Given the description of an element on the screen output the (x, y) to click on. 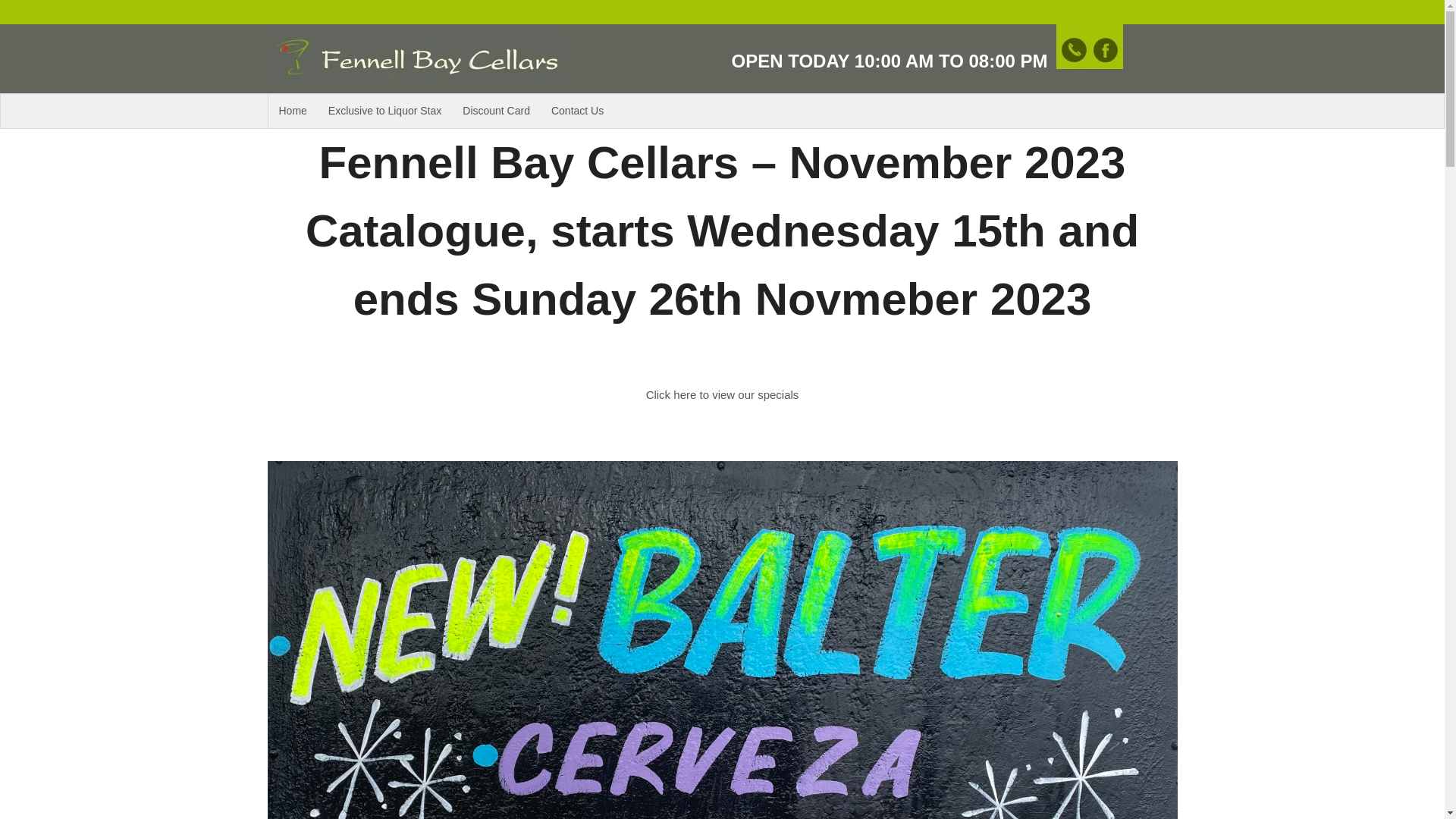
Exclusive to Liquor Stax Element type: text (384, 111)
Discount Card Element type: text (495, 111)
Click here to view our specials Element type: text (722, 394)
Home Element type: text (292, 111)
Contact Us Element type: text (577, 111)
